Given the description of an element on the screen output the (x, y) to click on. 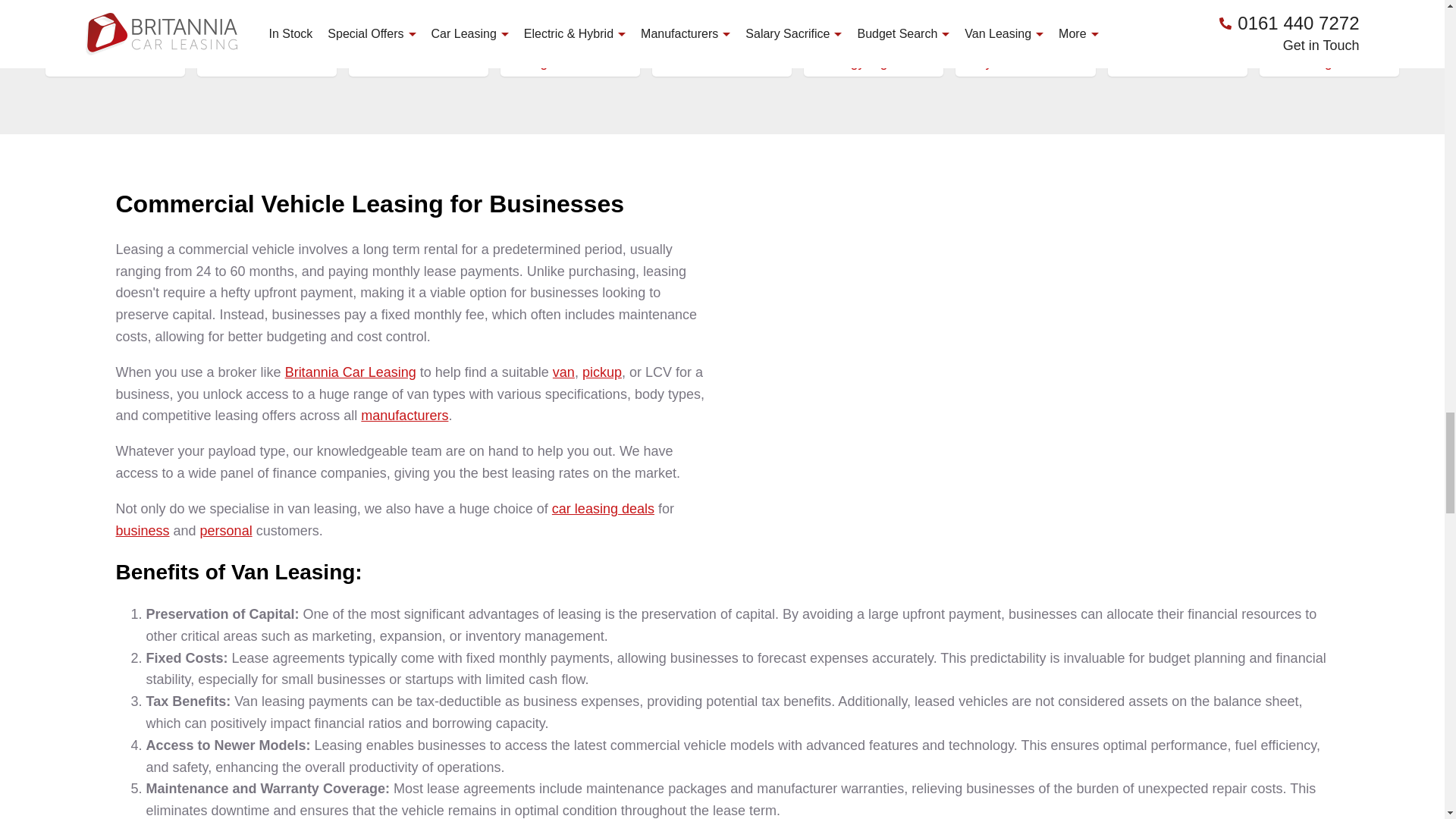
Dacia (266, 22)
Mercedes-Benz (266, 62)
Nissan (418, 62)
Isuzu (722, 22)
Maxus (114, 62)
Iveco (873, 22)
LEVC (1177, 22)
Land Rover (1024, 22)
MAN (1329, 22)
Ford (570, 22)
